Given the description of an element on the screen output the (x, y) to click on. 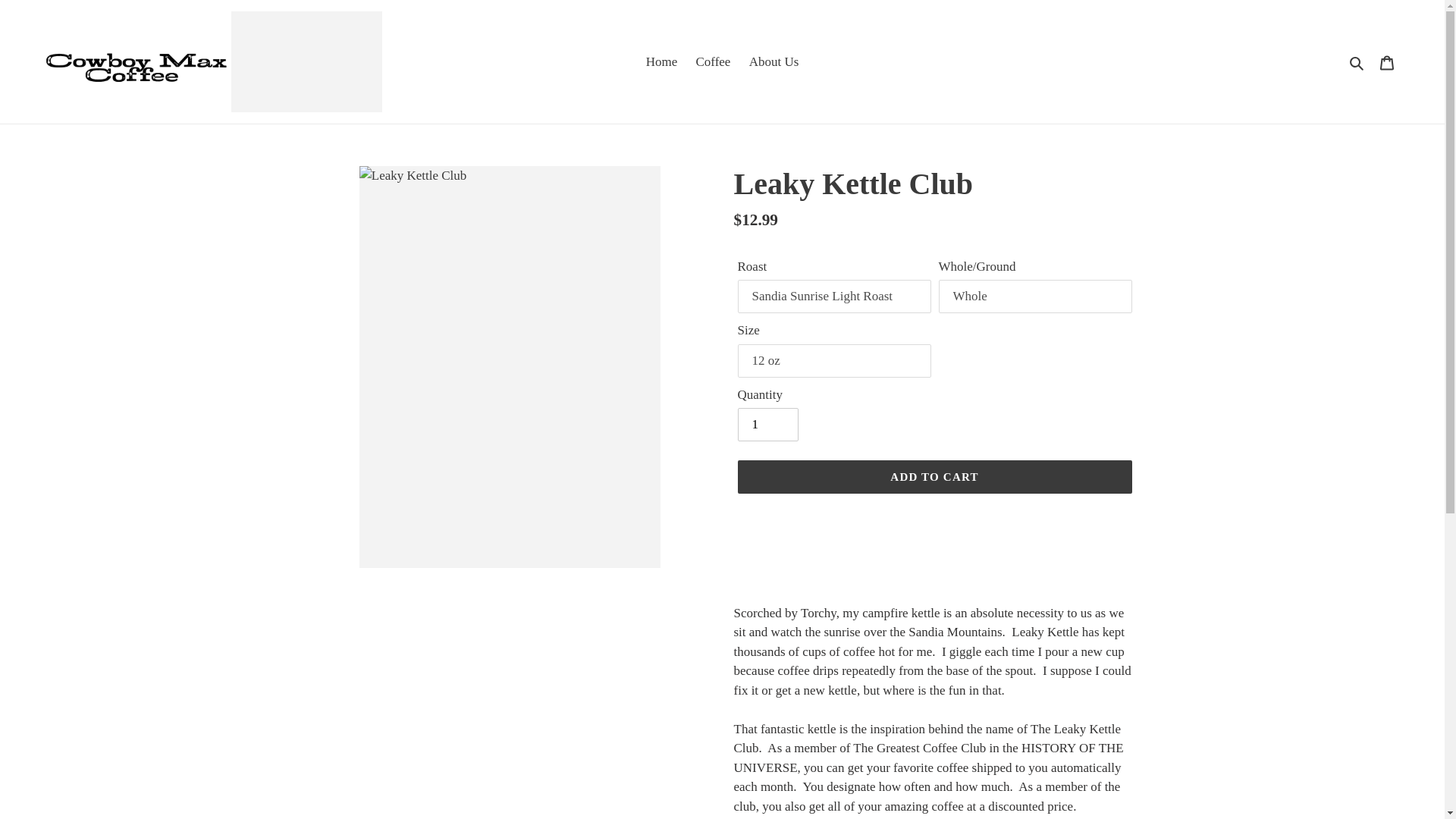
Coffee (712, 61)
About Us (773, 61)
Cart (1387, 62)
1 (766, 424)
Home (662, 61)
Search (1357, 61)
ADD TO CART (933, 476)
